Given the description of an element on the screen output the (x, y) to click on. 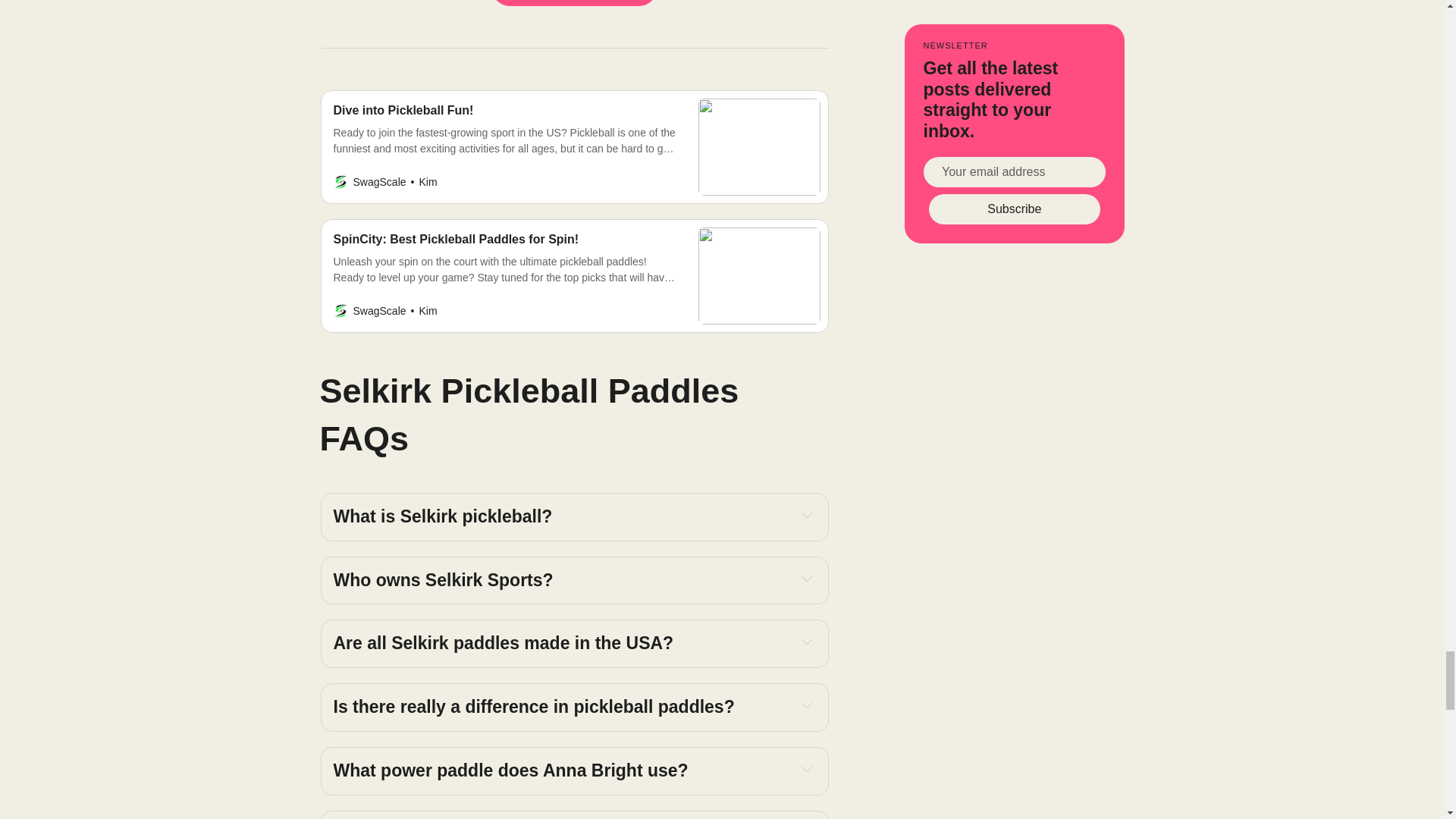
AMBSDRLIFE.COM (574, 2)
